Given the description of an element on the screen output the (x, y) to click on. 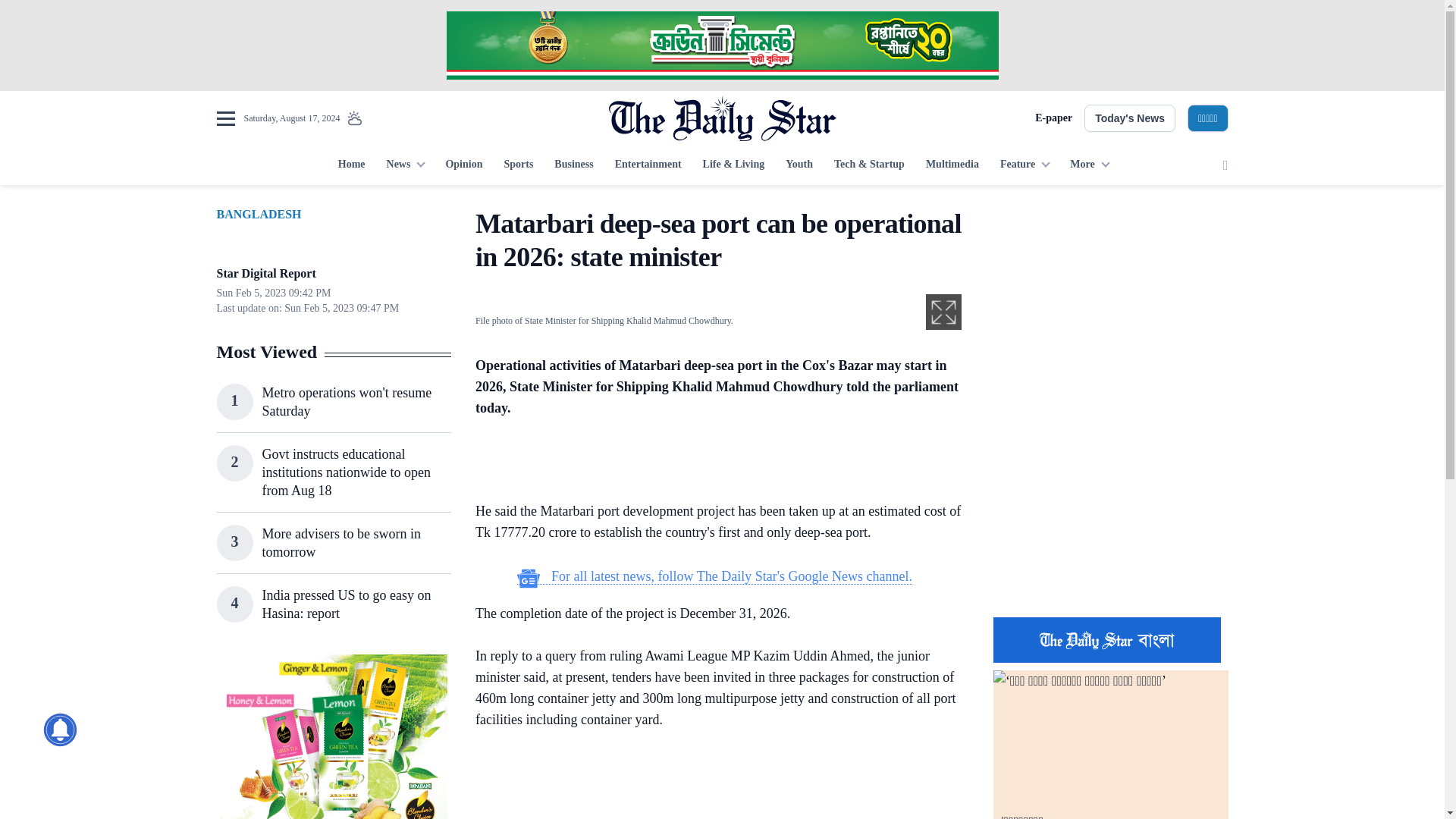
3rd party ad content (721, 45)
Opinion (463, 165)
Feature (1024, 165)
Multimedia (952, 165)
3rd party ad content (713, 785)
Business (573, 165)
3rd party ad content (714, 462)
Youth (799, 165)
E-paper (1053, 117)
News (405, 165)
